Given the description of an element on the screen output the (x, y) to click on. 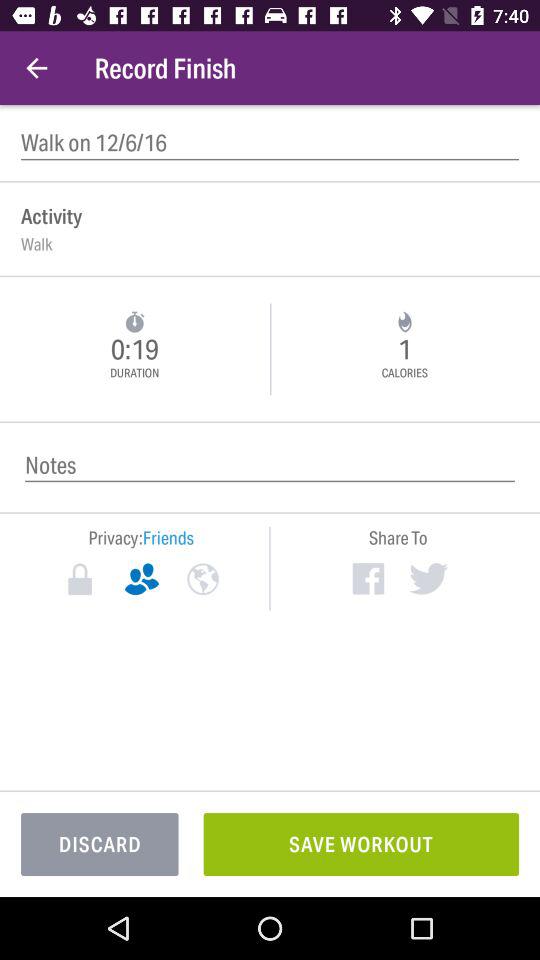
enter workout name (269, 142)
